Given the description of an element on the screen output the (x, y) to click on. 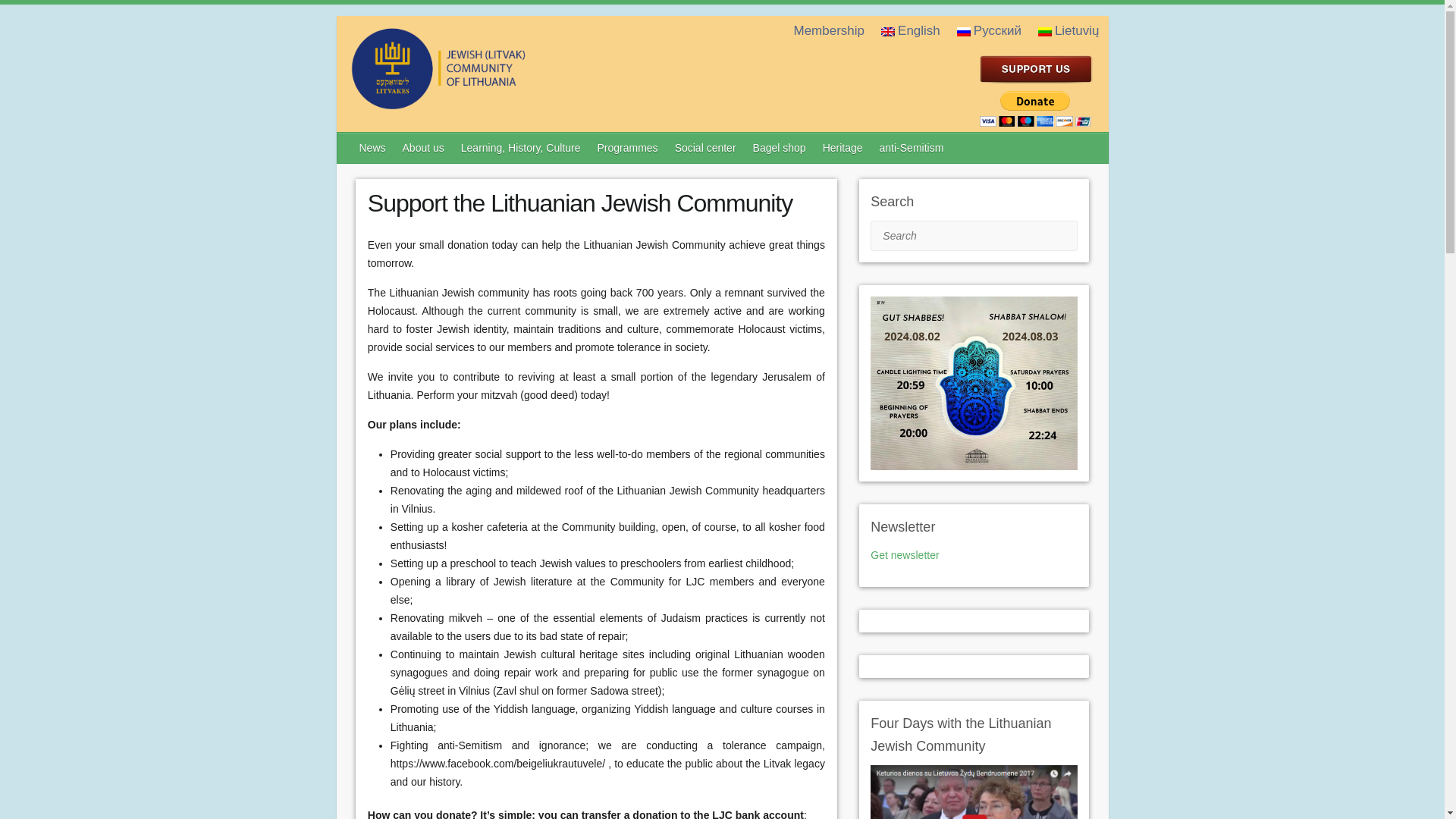
Get newsletter (904, 554)
Programmes (627, 147)
Bagel shop (780, 147)
News (373, 147)
About us (423, 147)
Heritage (843, 147)
Learning, History, Culture (520, 147)
English (887, 31)
anti-Semitism (912, 147)
Lithuanian Jewish Community (499, 102)
Membership (829, 30)
Social center (705, 147)
English (911, 30)
